Given the description of an element on the screen output the (x, y) to click on. 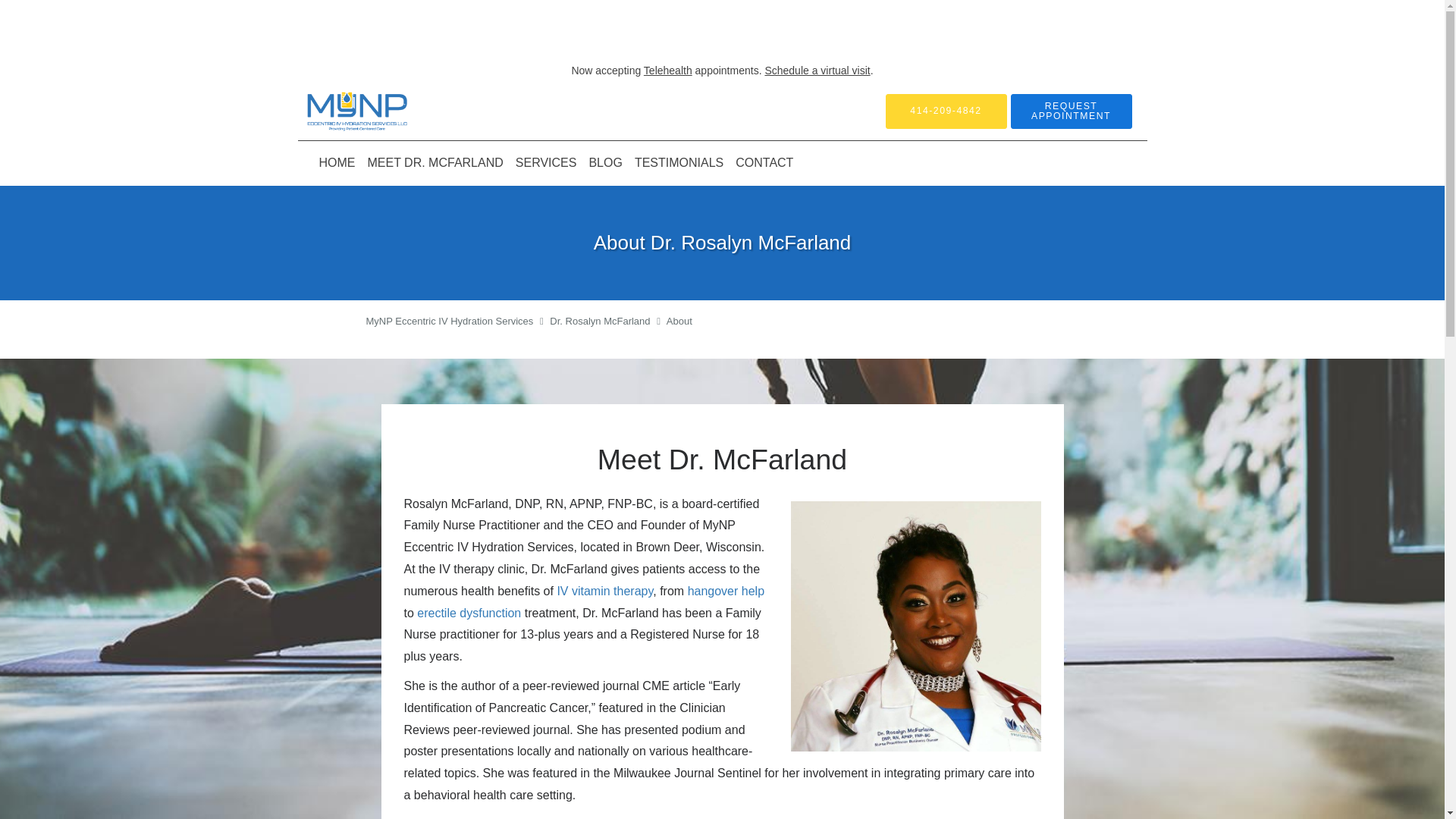
Schedule a virtual visit (816, 70)
SERVICES (546, 162)
CONTACT (764, 162)
REQUEST APPOINTMENT (1070, 111)
erectile dysfunction (468, 612)
TESTIMONIALS (678, 162)
BLOG (604, 162)
IV vitamin therapy (604, 590)
About (679, 320)
MyNP Eccentric IV Hydration Services (448, 320)
